Given the description of an element on the screen output the (x, y) to click on. 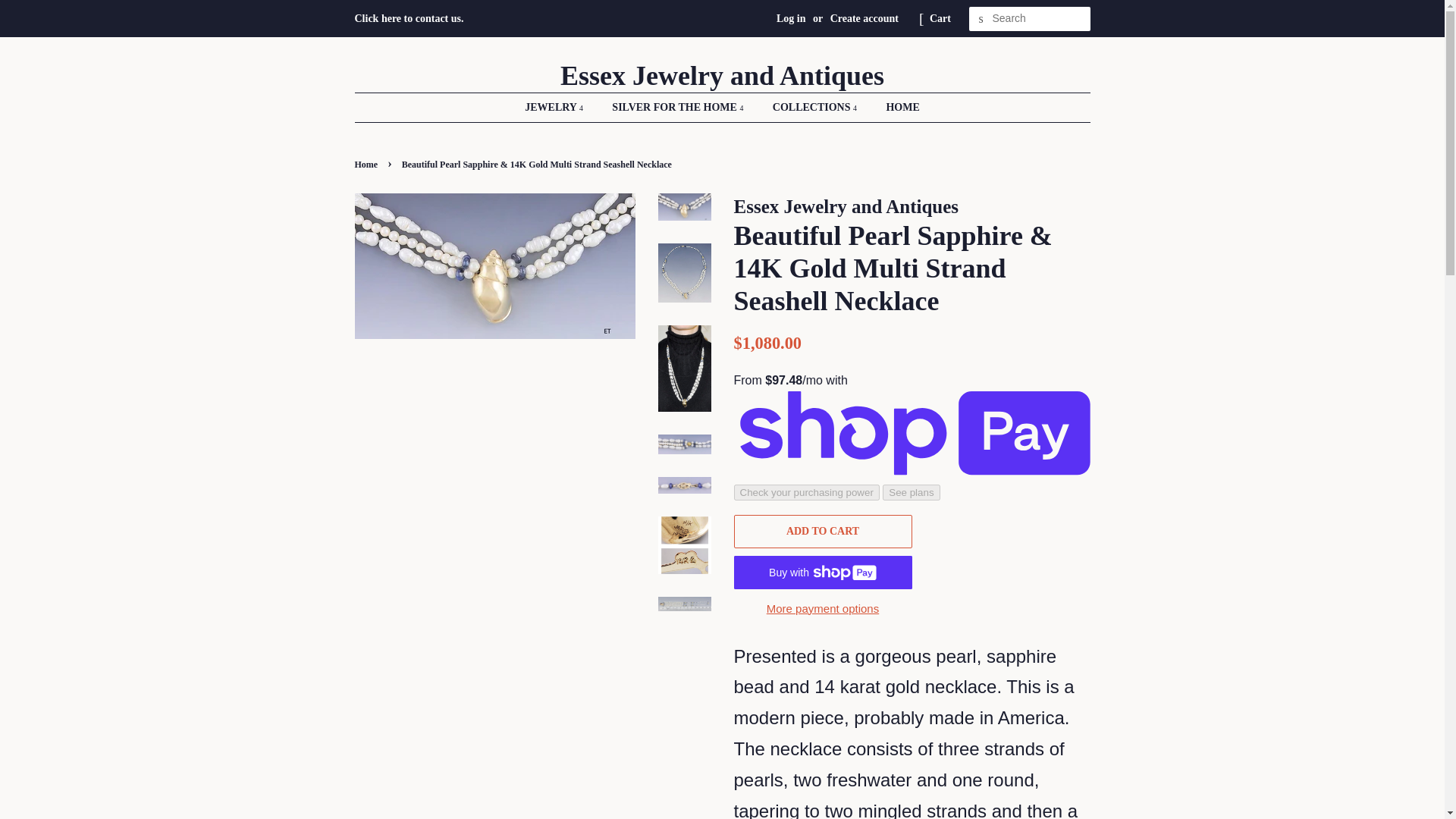
Create account (863, 18)
SEARCH (980, 18)
Cart (940, 18)
Click here to contact us. (409, 18)
Back to the frontpage (368, 163)
Log in (791, 18)
